Given the description of an element on the screen output the (x, y) to click on. 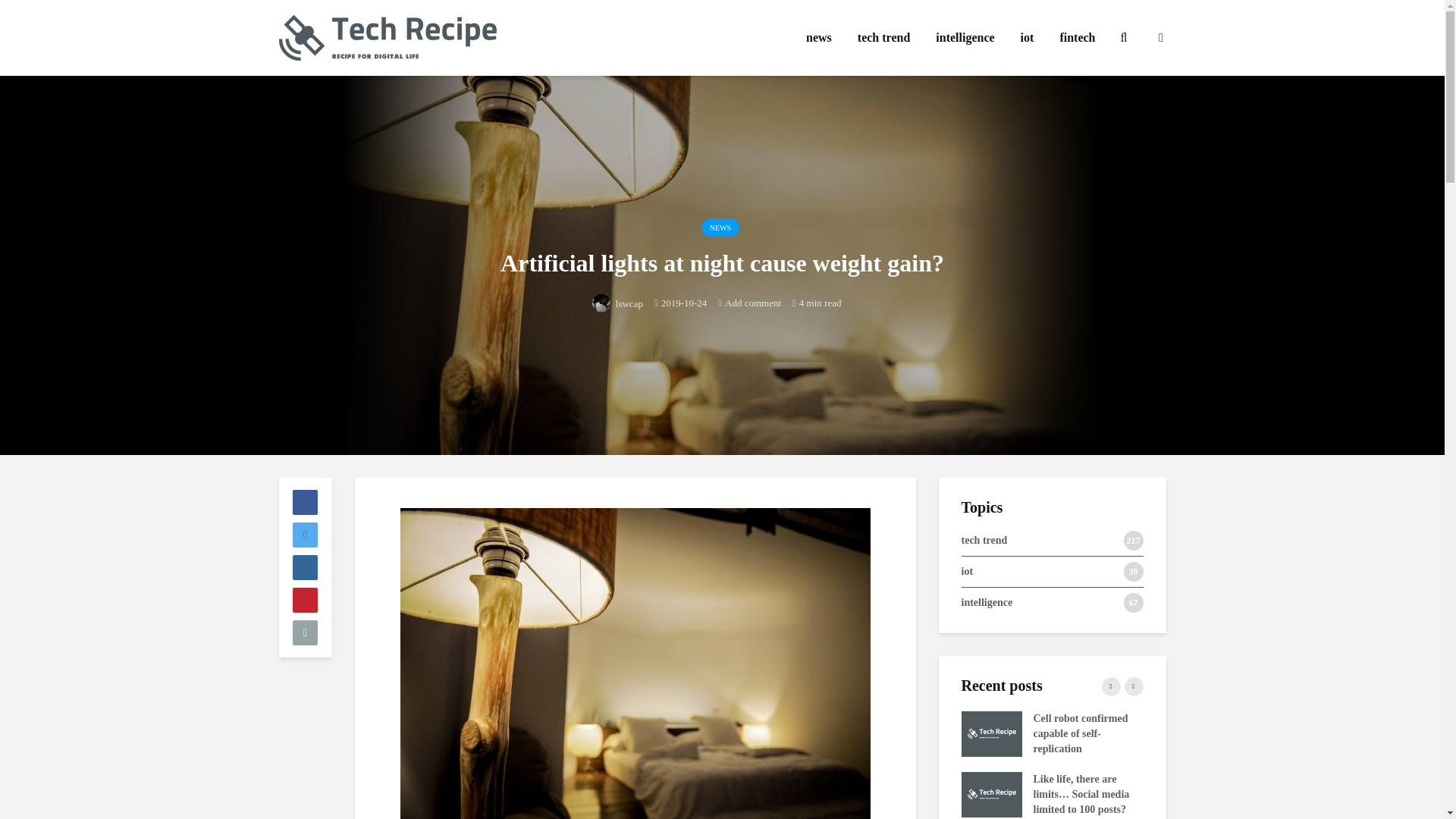
intelligence (965, 37)
news (818, 37)
iot (1027, 37)
Danish sensibility female front wheel hub motor bike (1355, 732)
tech trend (883, 37)
fintech (1077, 37)
Cell robot confirmed capable of self-replication (991, 732)
Danish sensibility female front wheel hub motor bike (809, 732)
lswcap (617, 302)
Add comment (748, 301)
NEWS (720, 227)
Spotify abolishes carview mode (809, 793)
